Given the description of an element on the screen output the (x, y) to click on. 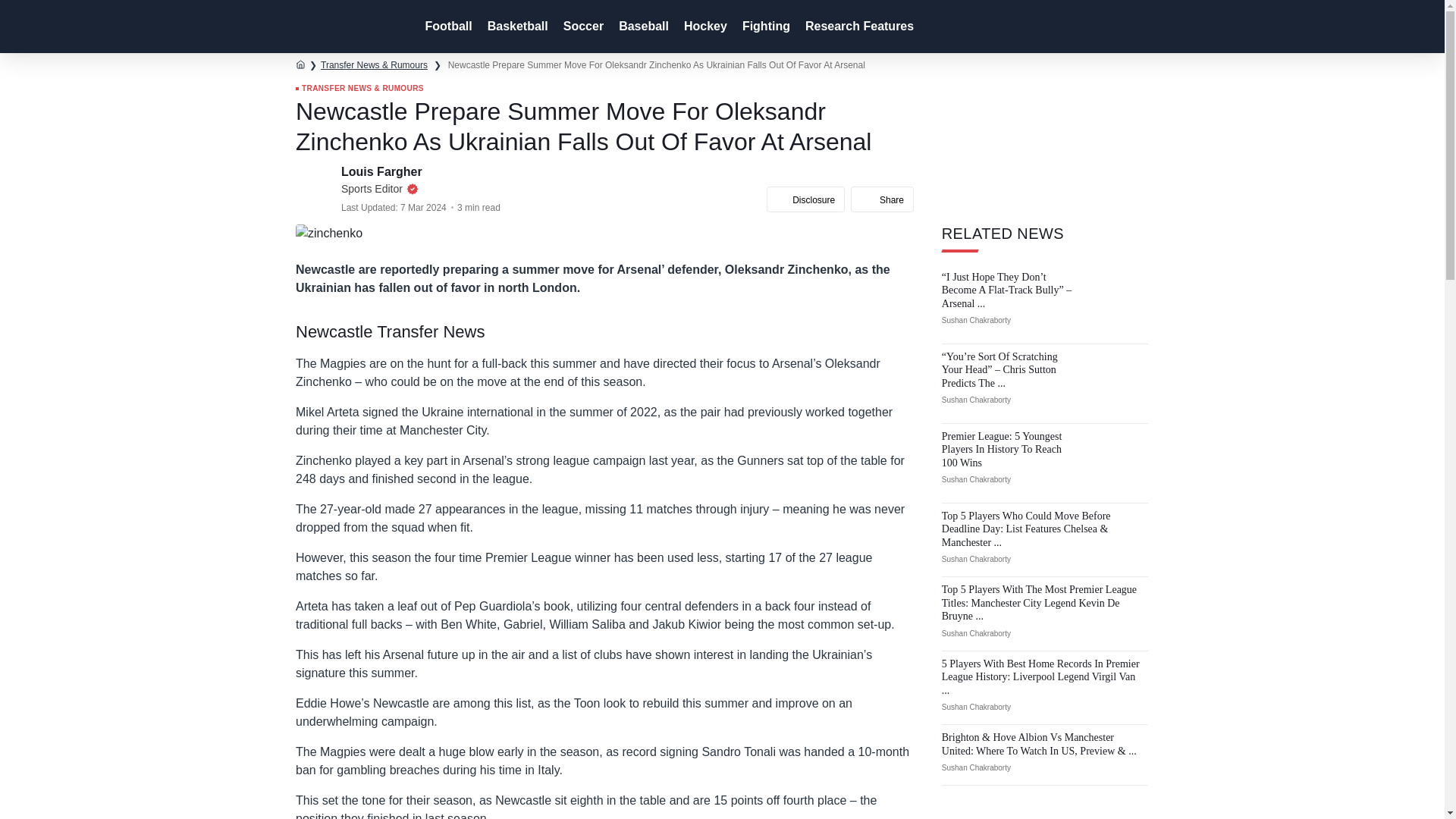
Soccer (582, 26)
Hockey (704, 26)
Share (882, 199)
Research Features (858, 26)
Louis Fargher (382, 171)
Baseball (642, 26)
Football (445, 26)
Fighting (764, 26)
Basketball (516, 26)
